Given the description of an element on the screen output the (x, y) to click on. 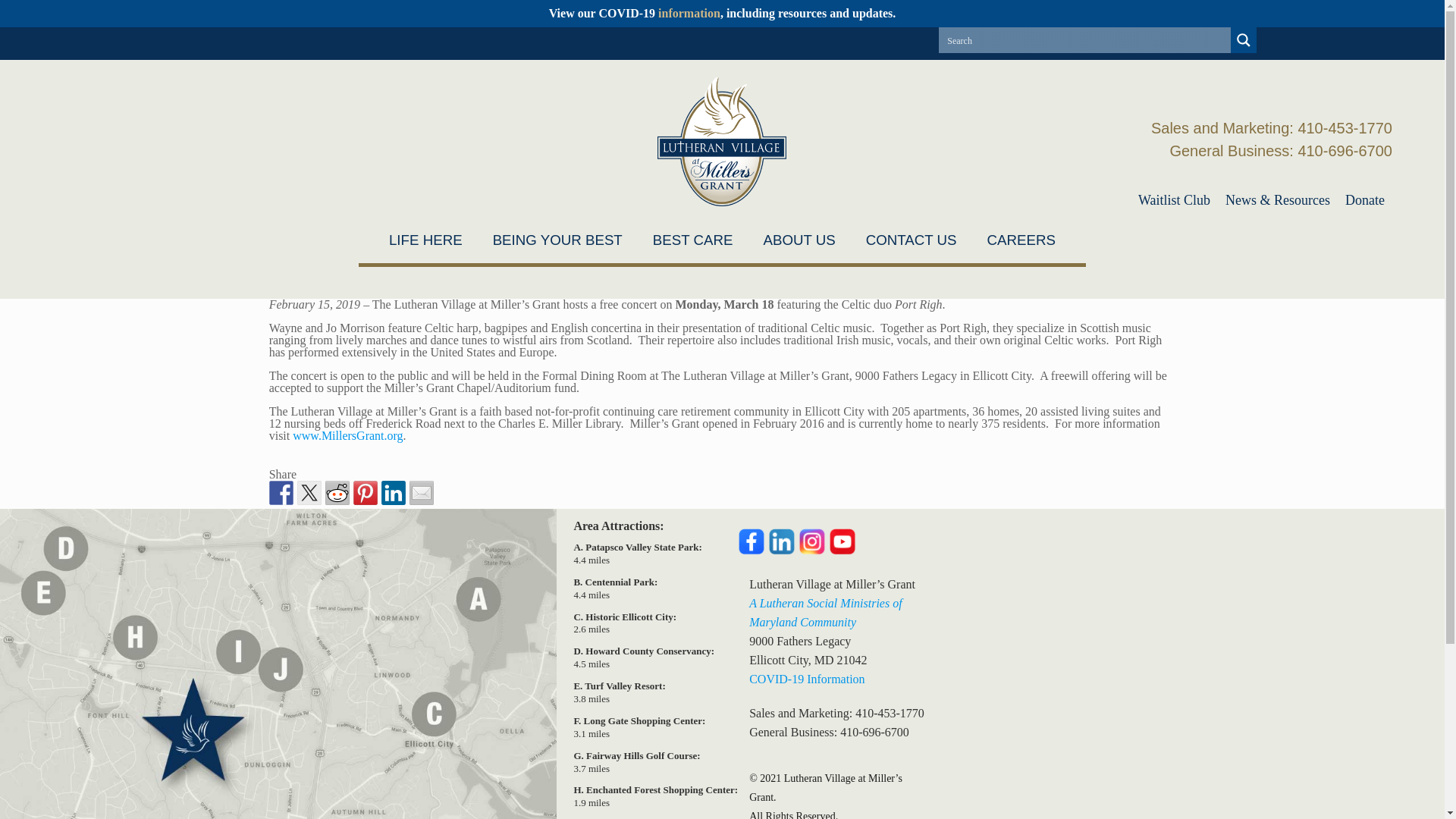
Share on Linkedin (393, 492)
BEST CARE (692, 239)
ABOUT US (799, 239)
LIFE HERE (425, 239)
information (689, 12)
Share by email (421, 492)
CAREERS (1021, 239)
Share on Reddit (336, 492)
CONTACT US (911, 239)
Share on Twitter (309, 492)
Pin it with Pinterest (365, 492)
Share on Facebook (281, 492)
BEING YOUR BEST (557, 239)
